Given the description of an element on the screen output the (x, y) to click on. 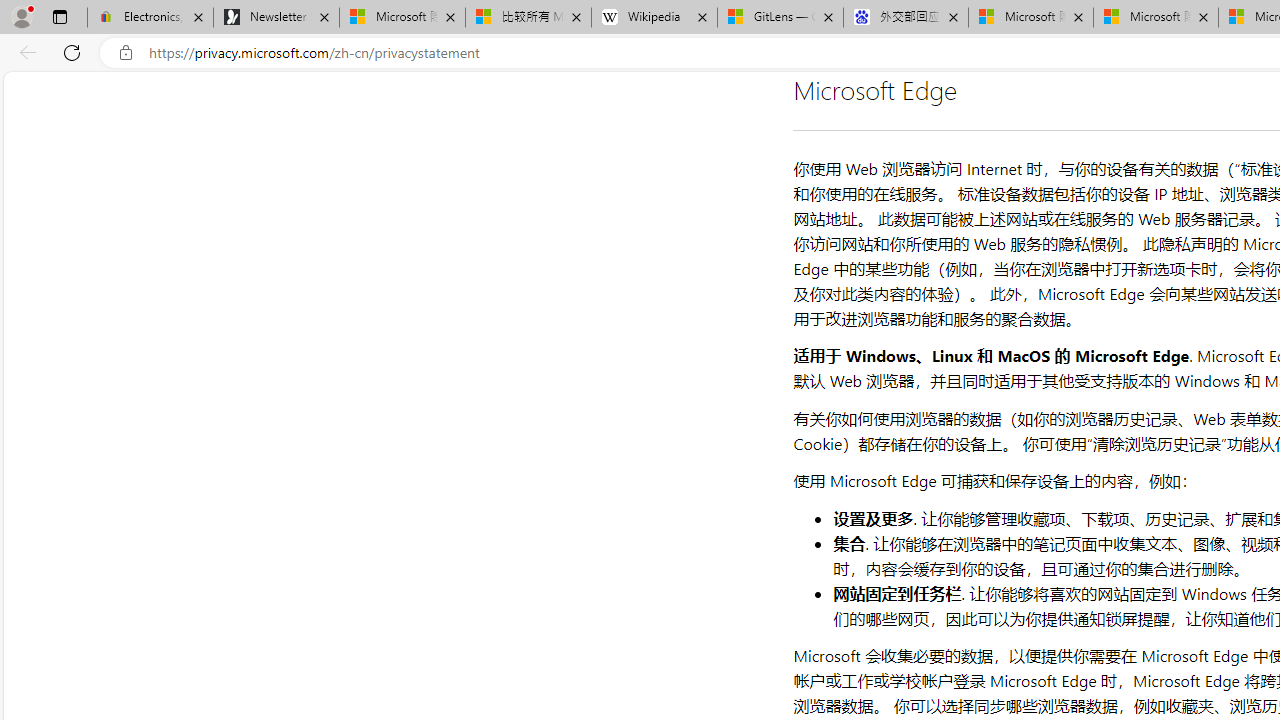
Wikipedia (653, 17)
Refresh (72, 52)
Electronics, Cars, Fashion, Collectibles & More | eBay (150, 17)
Tab actions menu (59, 16)
Newsletter Sign Up (276, 17)
Close tab (1203, 16)
View site information (125, 53)
Back (24, 52)
